Given the description of an element on the screen output the (x, y) to click on. 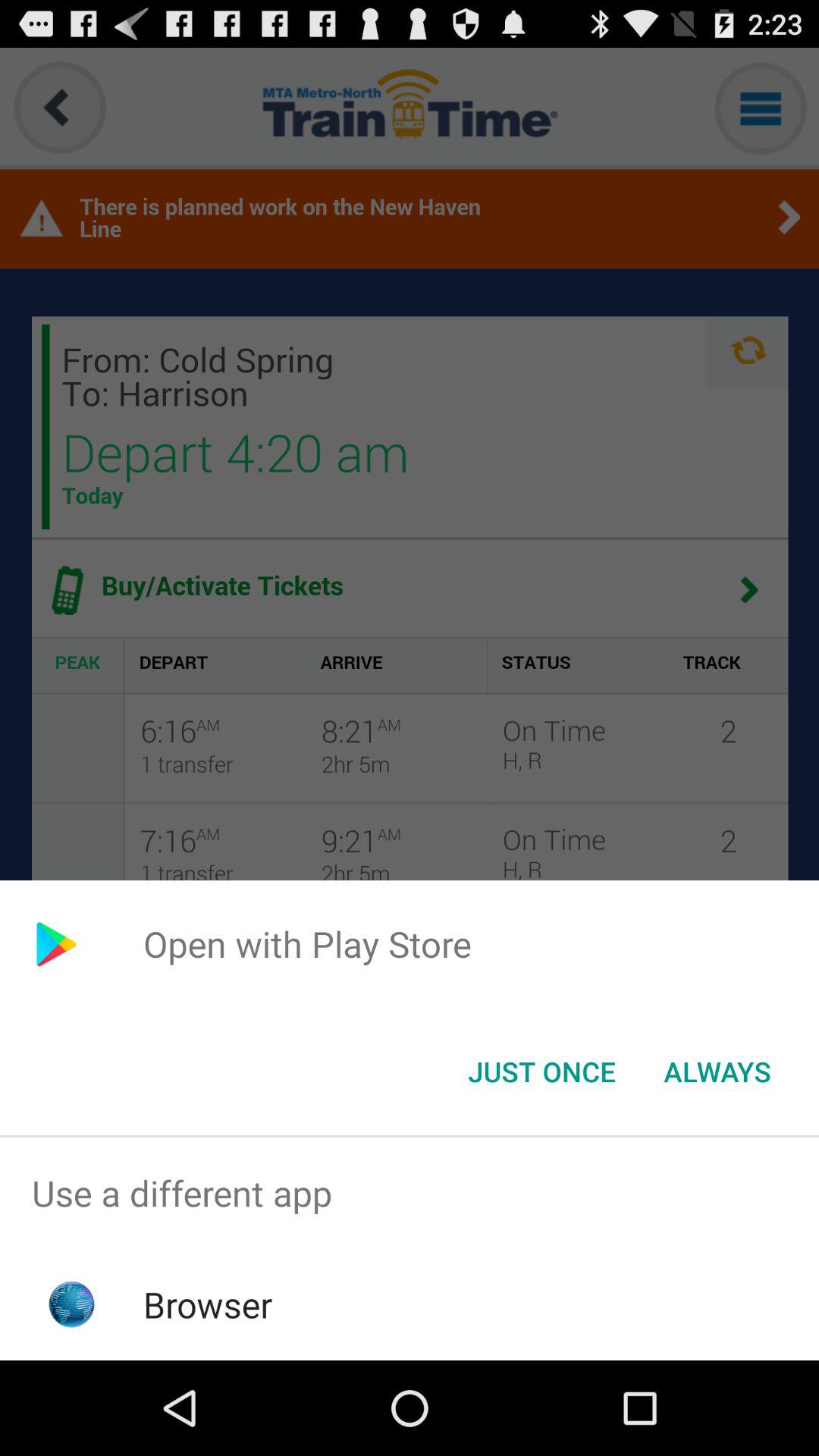
open button to the right of the just once icon (717, 1071)
